Given the description of an element on the screen output the (x, y) to click on. 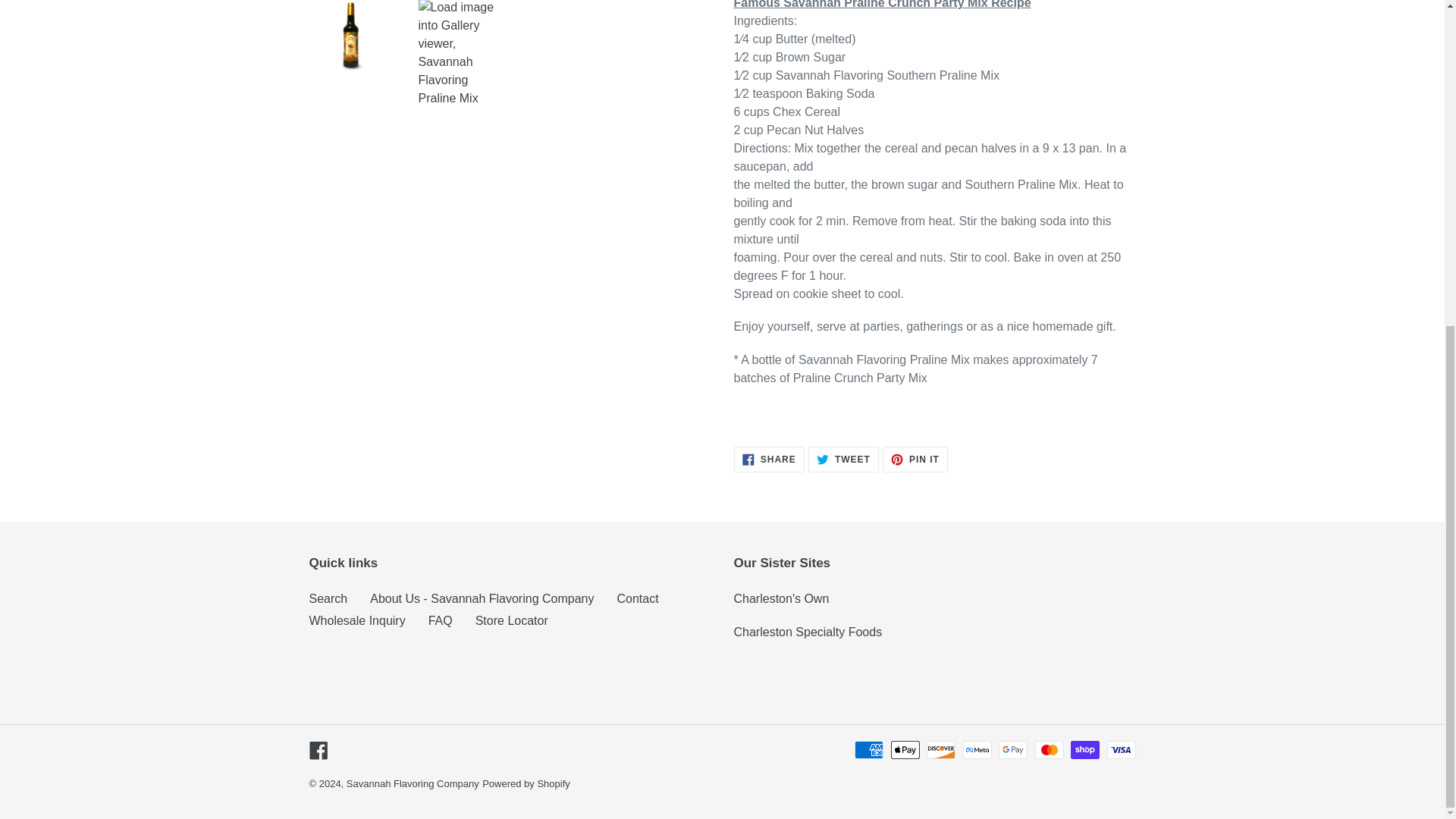
About Us - Savannah Flavoring Company (481, 598)
Store Locator (512, 620)
Savannah Flavoring Company (843, 459)
Wholesale Inquiry (412, 783)
Charleston's Own (357, 620)
Facebook (781, 598)
FAQ (318, 749)
Contact (769, 459)
